Given the description of an element on the screen output the (x, y) to click on. 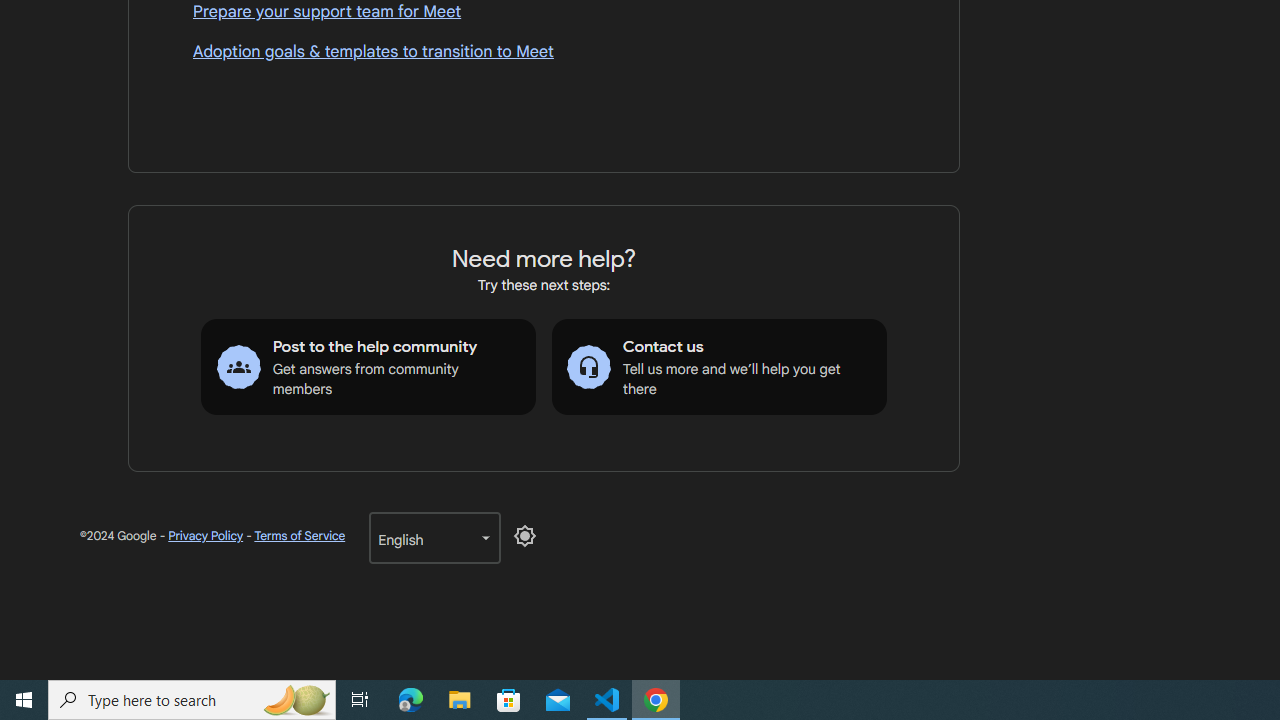
Privacy Policy (205, 535)
Adoption goals & templates to transition to Meet (543, 52)
Disable Dark Mode (525, 535)
Terms of Service (299, 535)
